Given the description of an element on the screen output the (x, y) to click on. 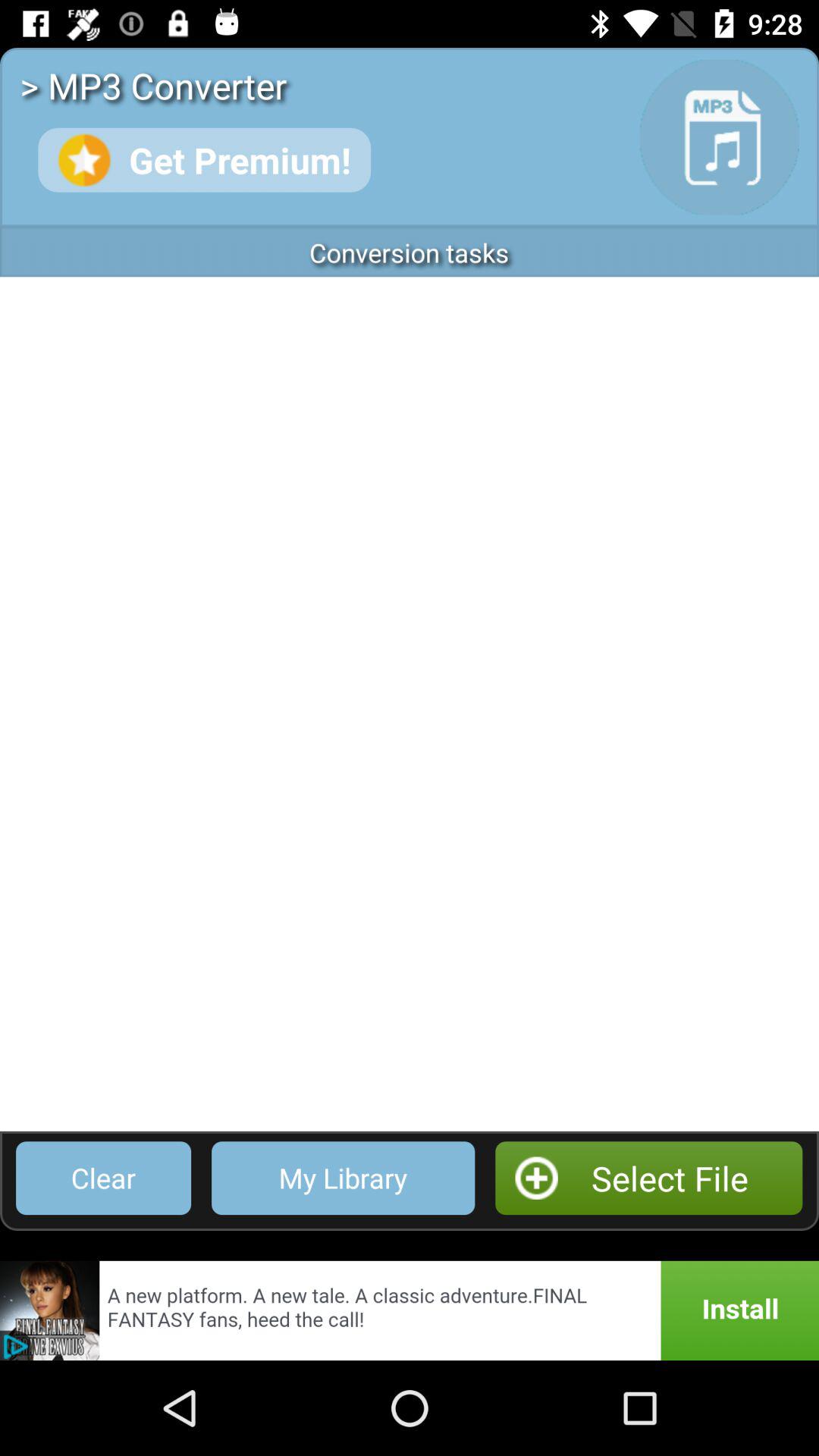
tap select file icon (648, 1177)
